Given the description of an element on the screen output the (x, y) to click on. 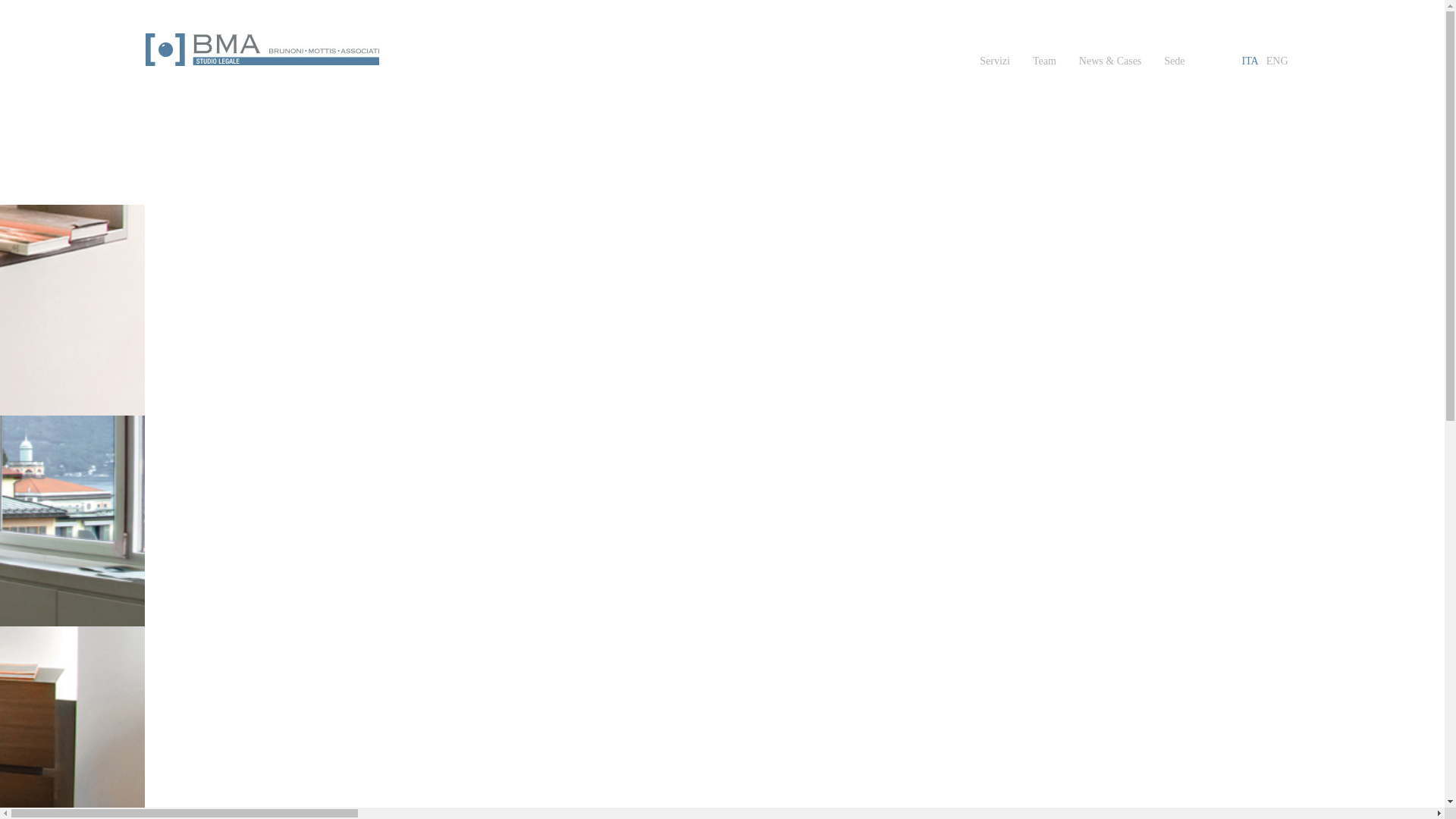
Team Element type: text (1044, 61)
ITA Element type: text (1250, 61)
Servizi Element type: text (994, 61)
Sede Element type: text (1174, 61)
ENG Element type: text (1277, 61)
News & Cases Element type: text (1110, 61)
